Given the description of an element on the screen output the (x, y) to click on. 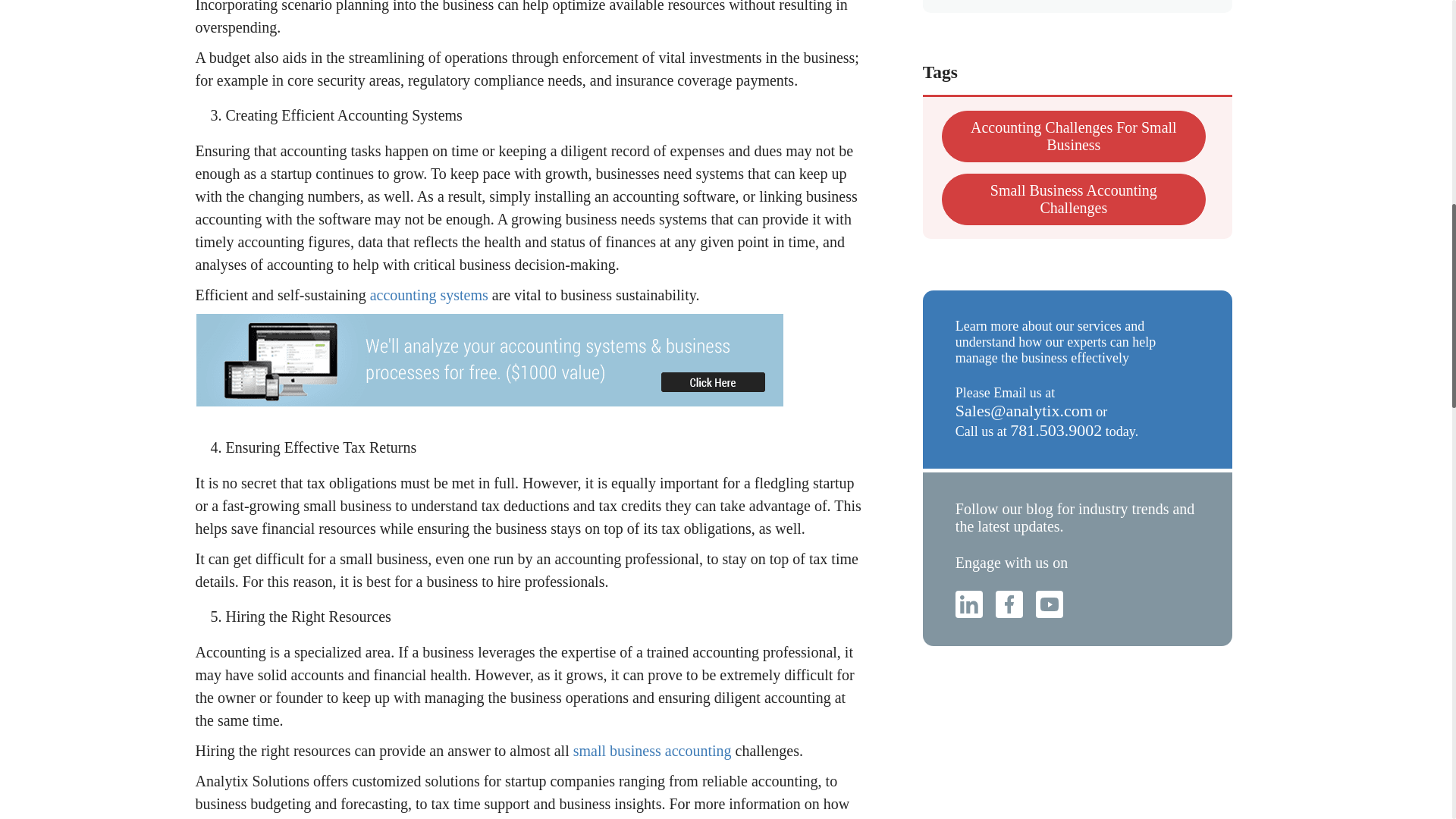
accounting systems (428, 294)
small business accounting (652, 750)
small business accounting challenges (1073, 199)
accounting challenges for small business (1073, 136)
